Given the description of an element on the screen output the (x, y) to click on. 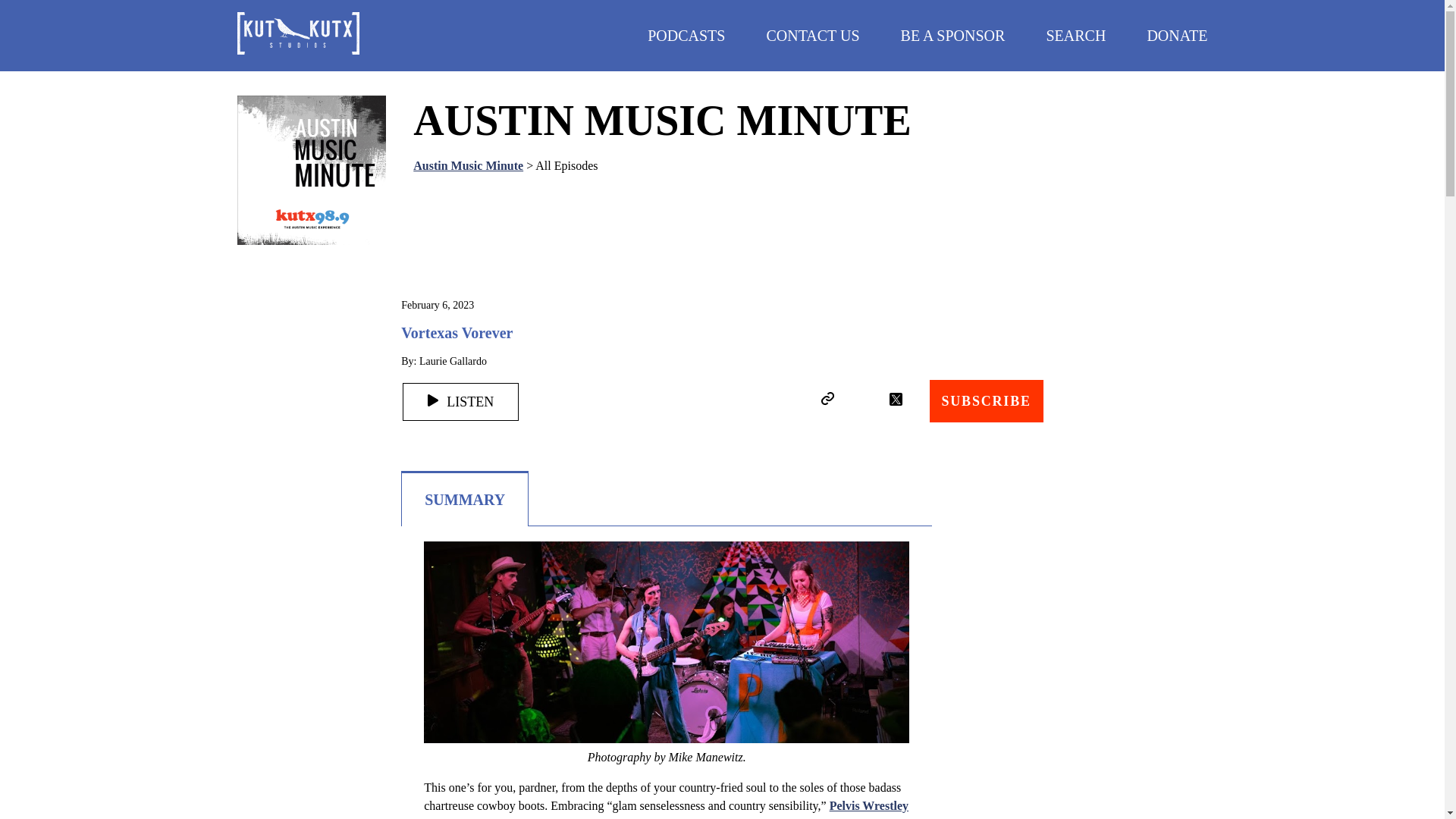
Austin Music Minute (467, 164)
BE A SPONSOR (953, 35)
CONTACT US (812, 35)
PODCASTS (686, 35)
SUBSCRIBE (986, 401)
share on X (894, 399)
DONATE (1177, 35)
Pelvis Wrestley (868, 805)
LISTEN (460, 401)
SEARCH (1075, 35)
